Given the description of an element on the screen output the (x, y) to click on. 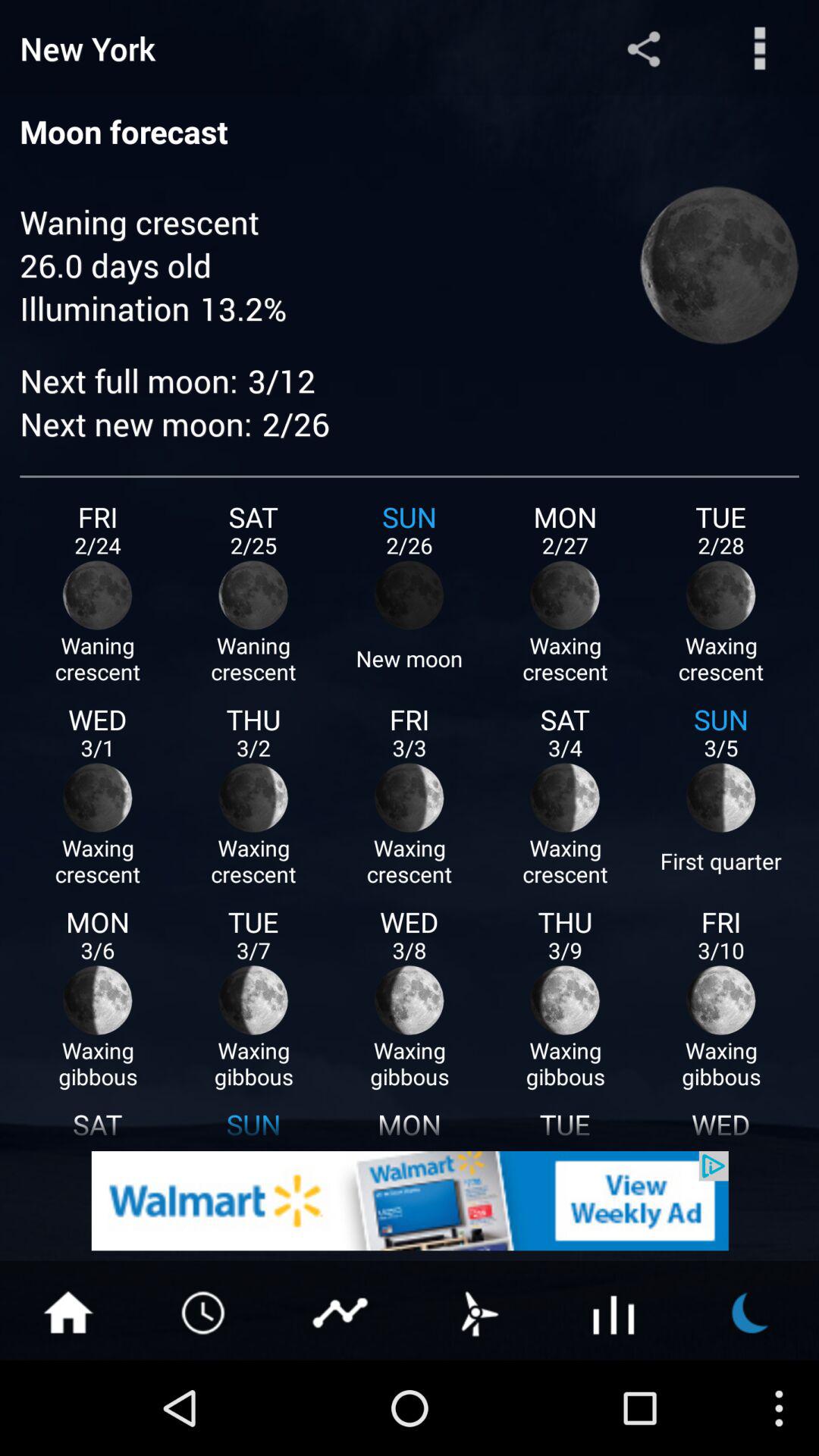
apps (614, 1311)
